Given the description of an element on the screen output the (x, y) to click on. 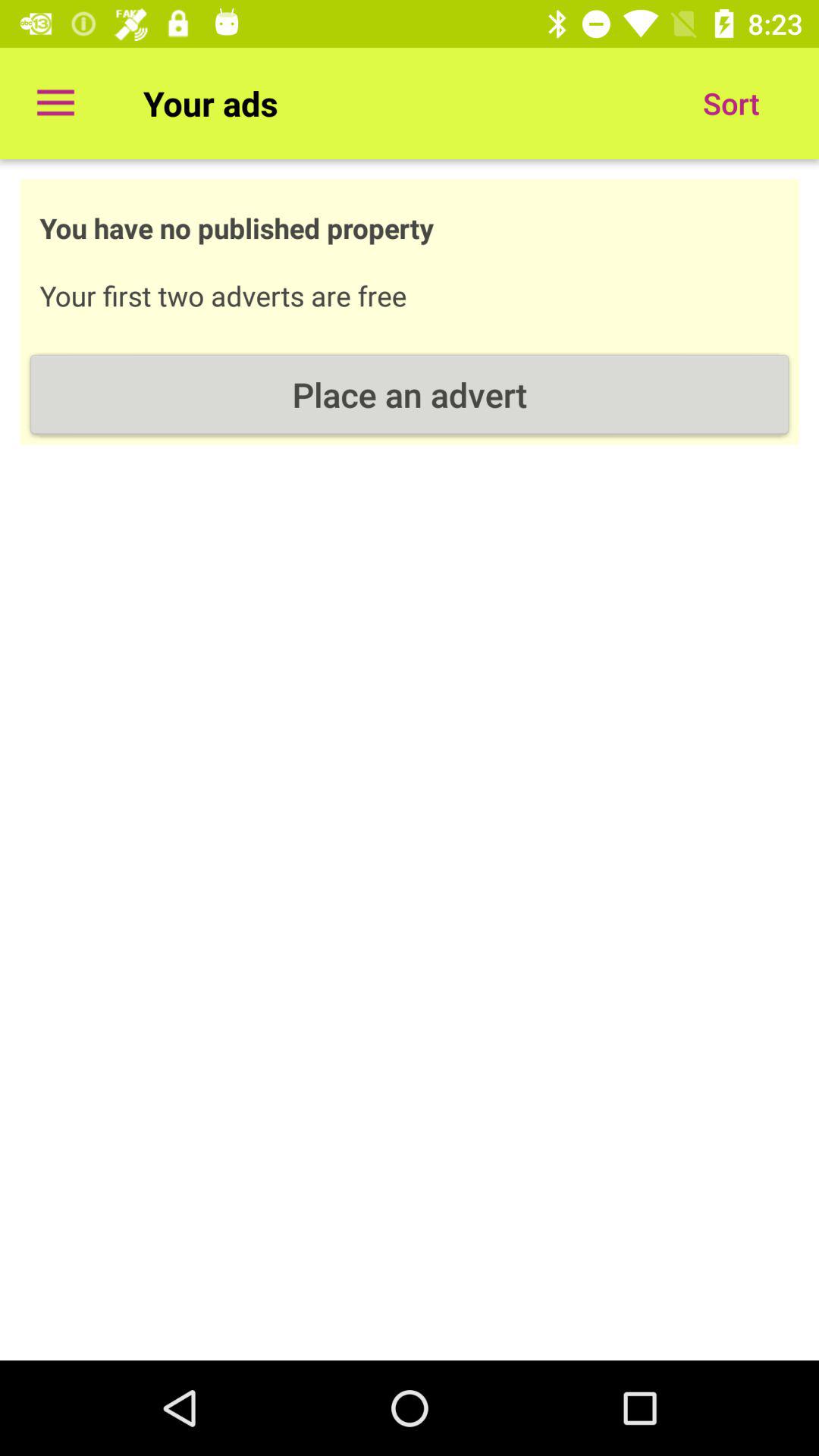
launch the item below your first two (409, 394)
